Given the description of an element on the screen output the (x, y) to click on. 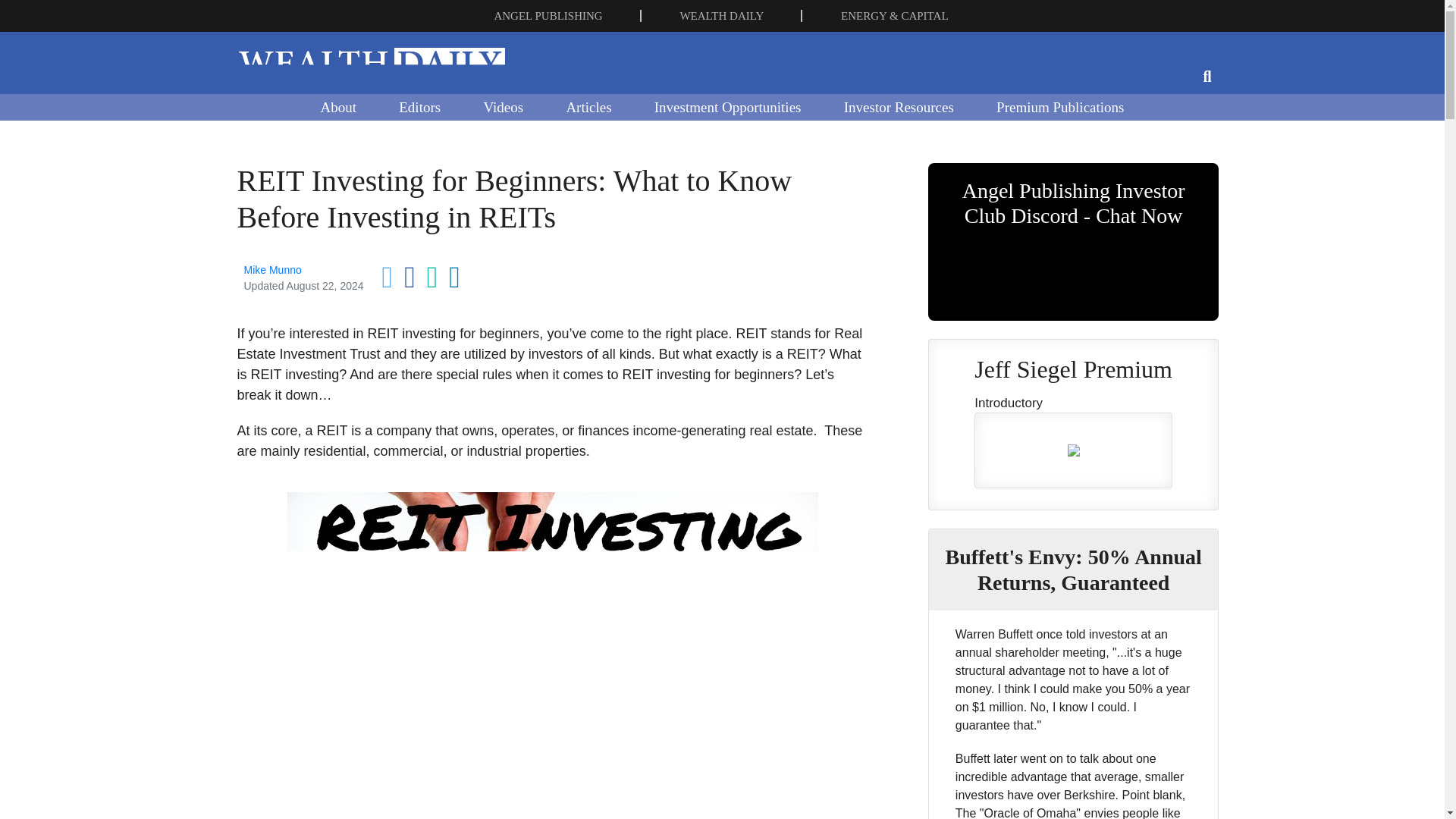
Investment Opportunities (727, 106)
ANGEL PUBLISHING (547, 15)
Editors (419, 106)
Articles (587, 106)
Videos (502, 106)
Angel Publishing Investor Club Discord - Chat Now (1074, 241)
Premium Publications (1059, 106)
Investor Resources (898, 106)
WEALTH DAILY (720, 15)
About (337, 106)
